Given the description of an element on the screen output the (x, y) to click on. 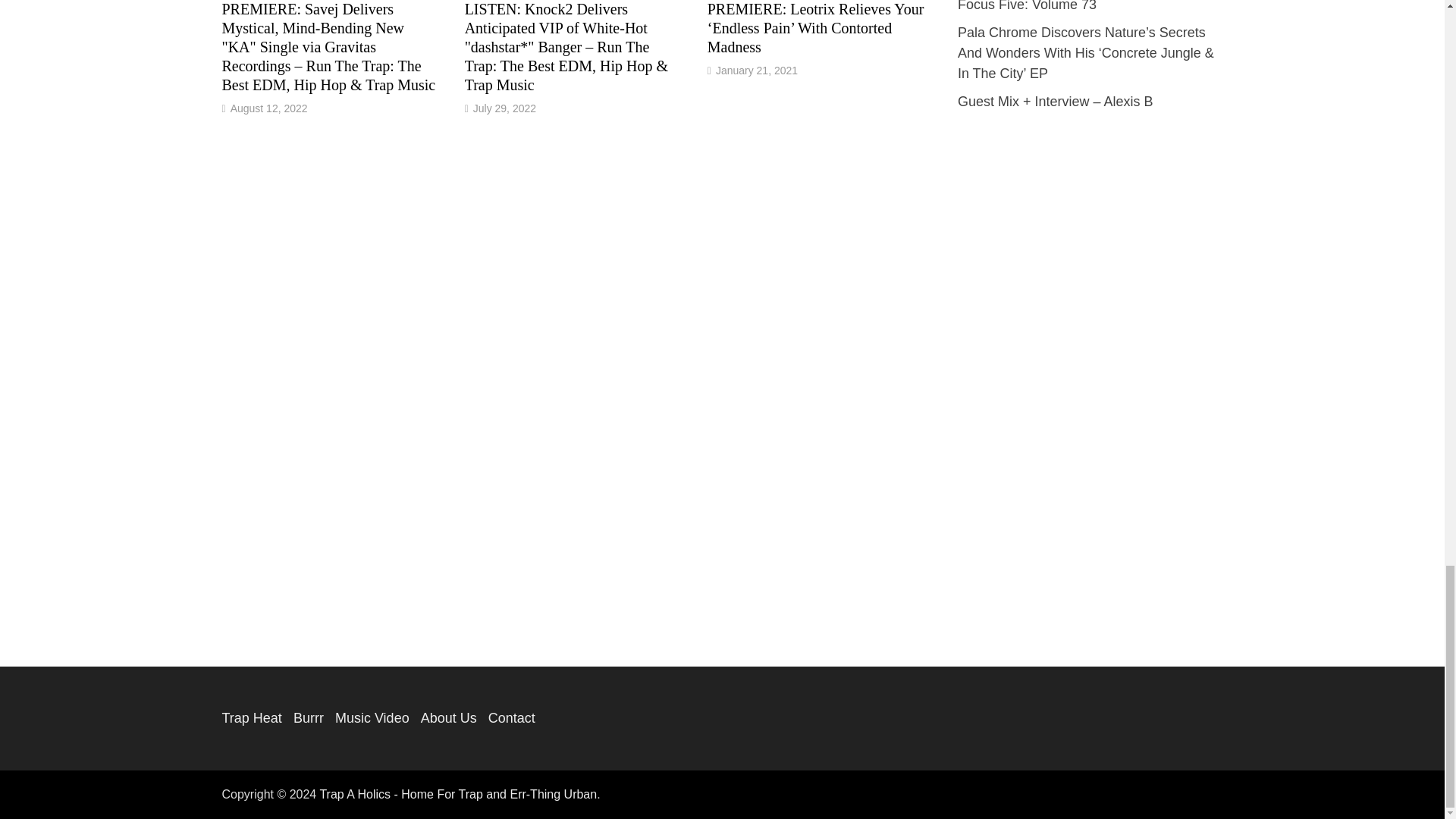
Trap A Holics - Home For Trap and Err-Thing Urban (457, 793)
July 29, 2022 (504, 108)
Focus Five: Volume 73 (1027, 6)
August 12, 2022 (268, 108)
January 21, 2021 (756, 70)
